Given the description of an element on the screen output the (x, y) to click on. 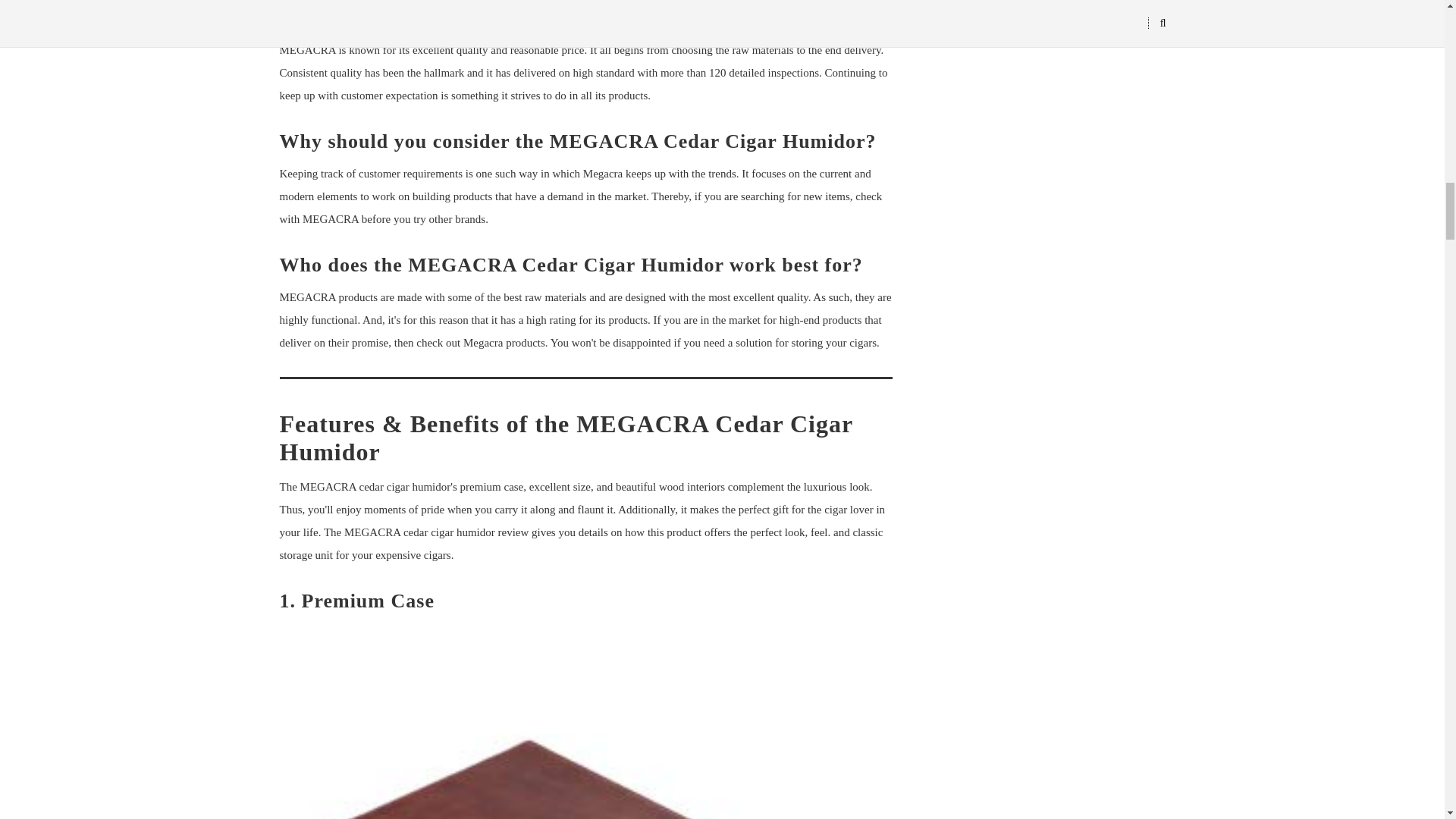
MEGACRA cedar cigar humidor 5 (586, 727)
